Given the description of an element on the screen output the (x, y) to click on. 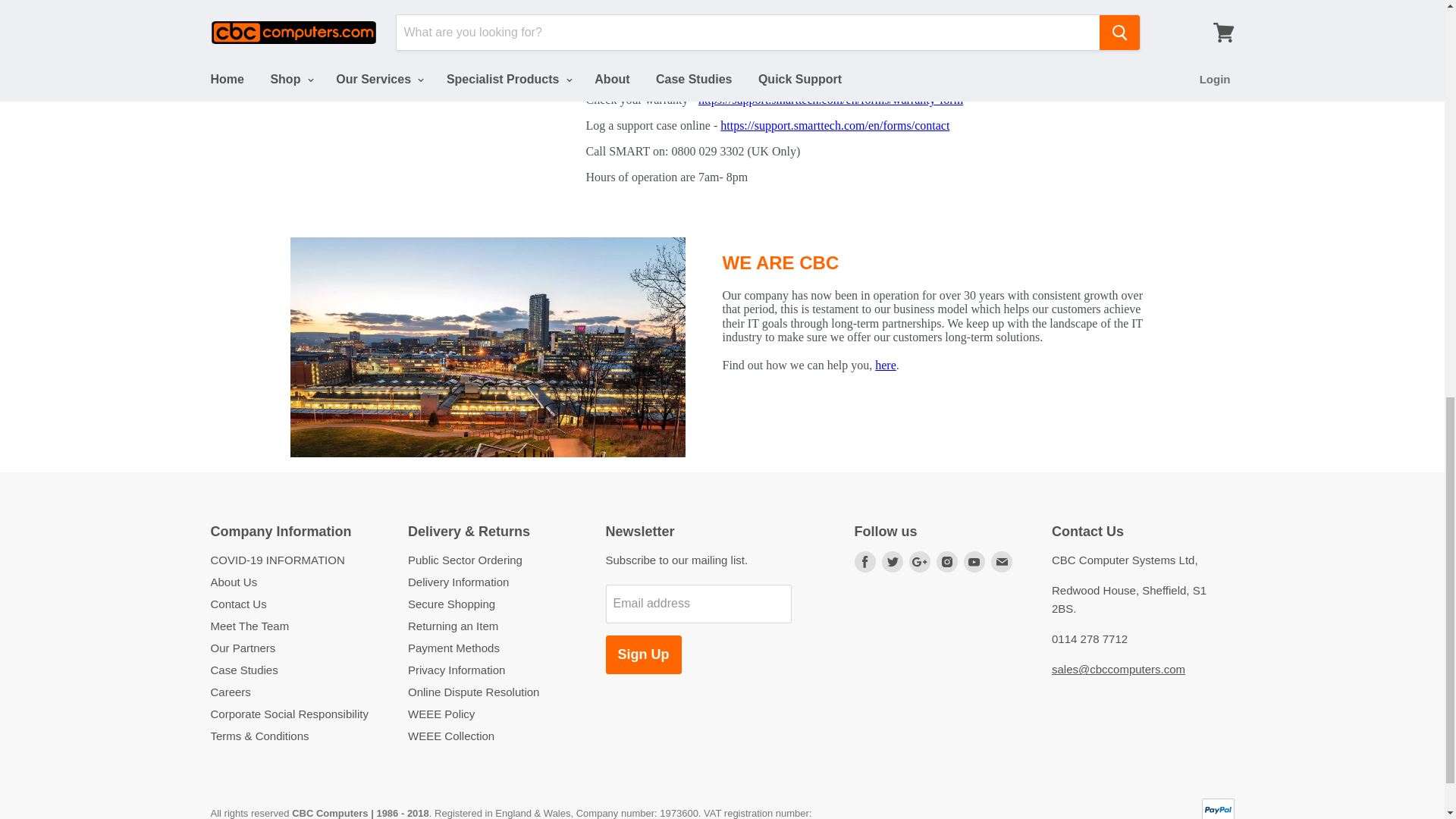
Facebook (863, 561)
Youtube (973, 561)
Instagram (946, 561)
Google (919, 561)
E-mail (1000, 561)
Twitter (891, 561)
